Given the description of an element on the screen output the (x, y) to click on. 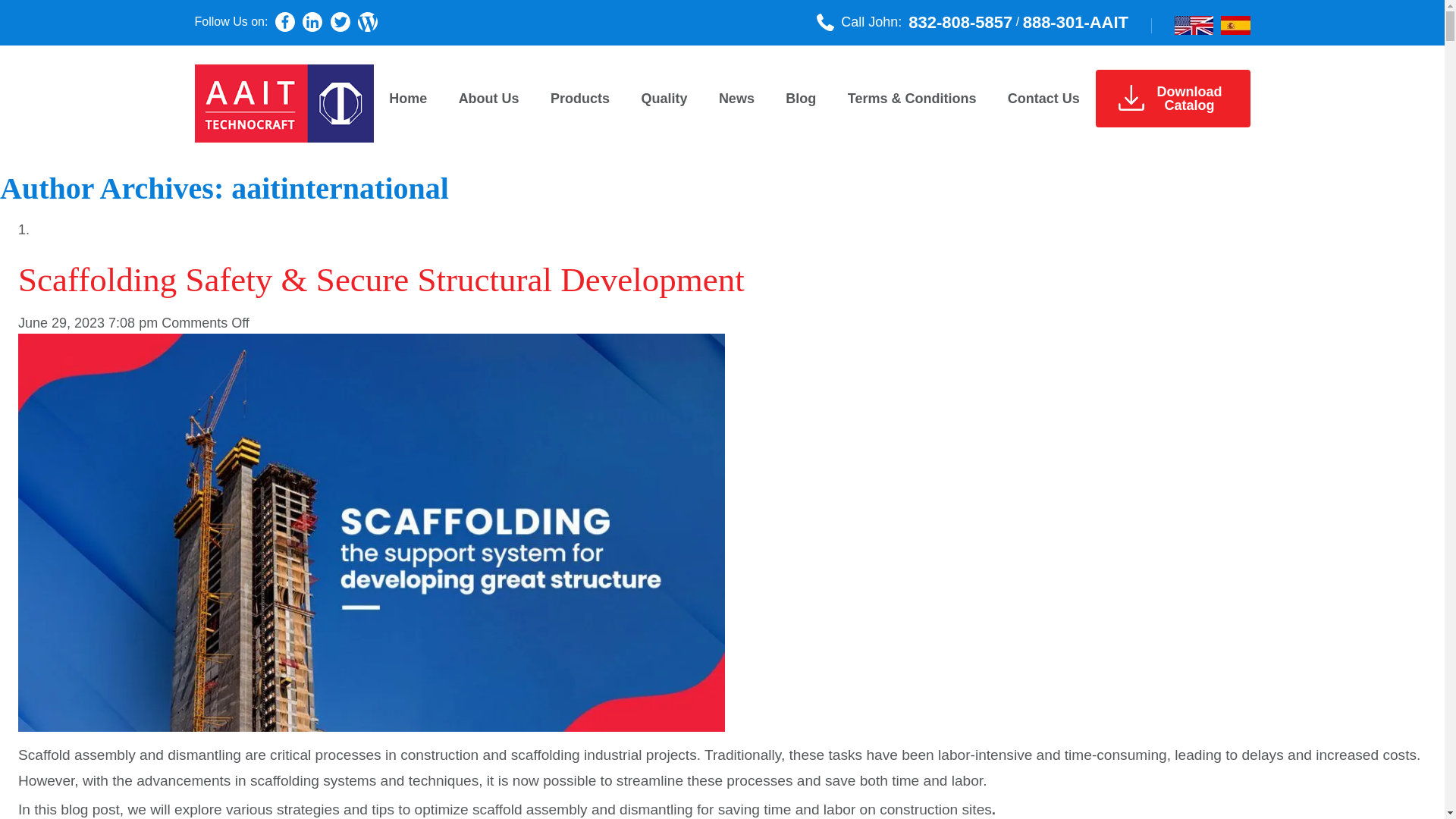
Spain Flag (1235, 25)
832-808-5857 (959, 22)
Download Brochure (1171, 98)
AAIT Scaffold (1130, 97)
888-301-AAIT (282, 103)
